Given the description of an element on the screen output the (x, y) to click on. 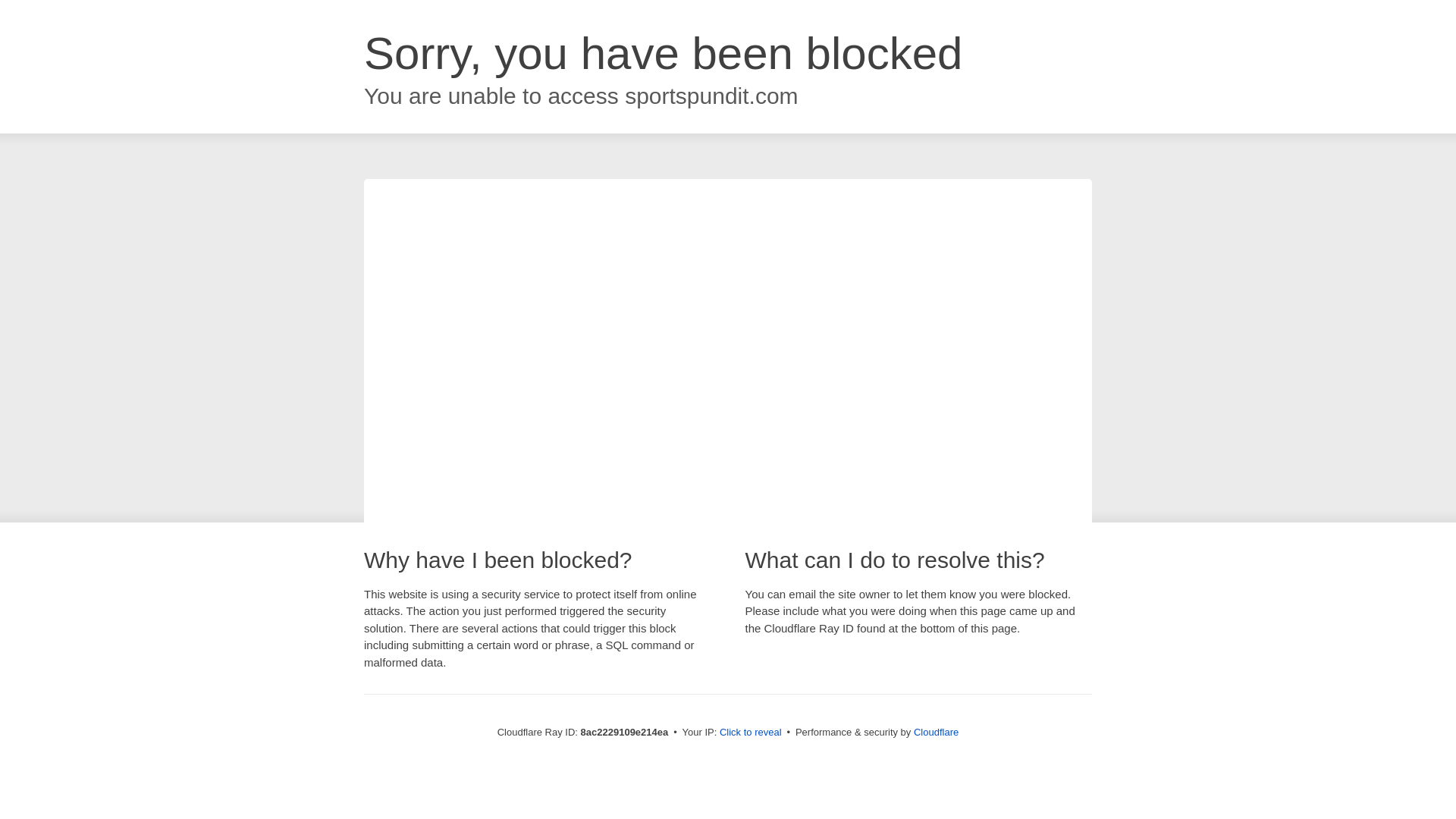
Cloudflare (936, 731)
Click to reveal (750, 732)
